Given the description of an element on the screen output the (x, y) to click on. 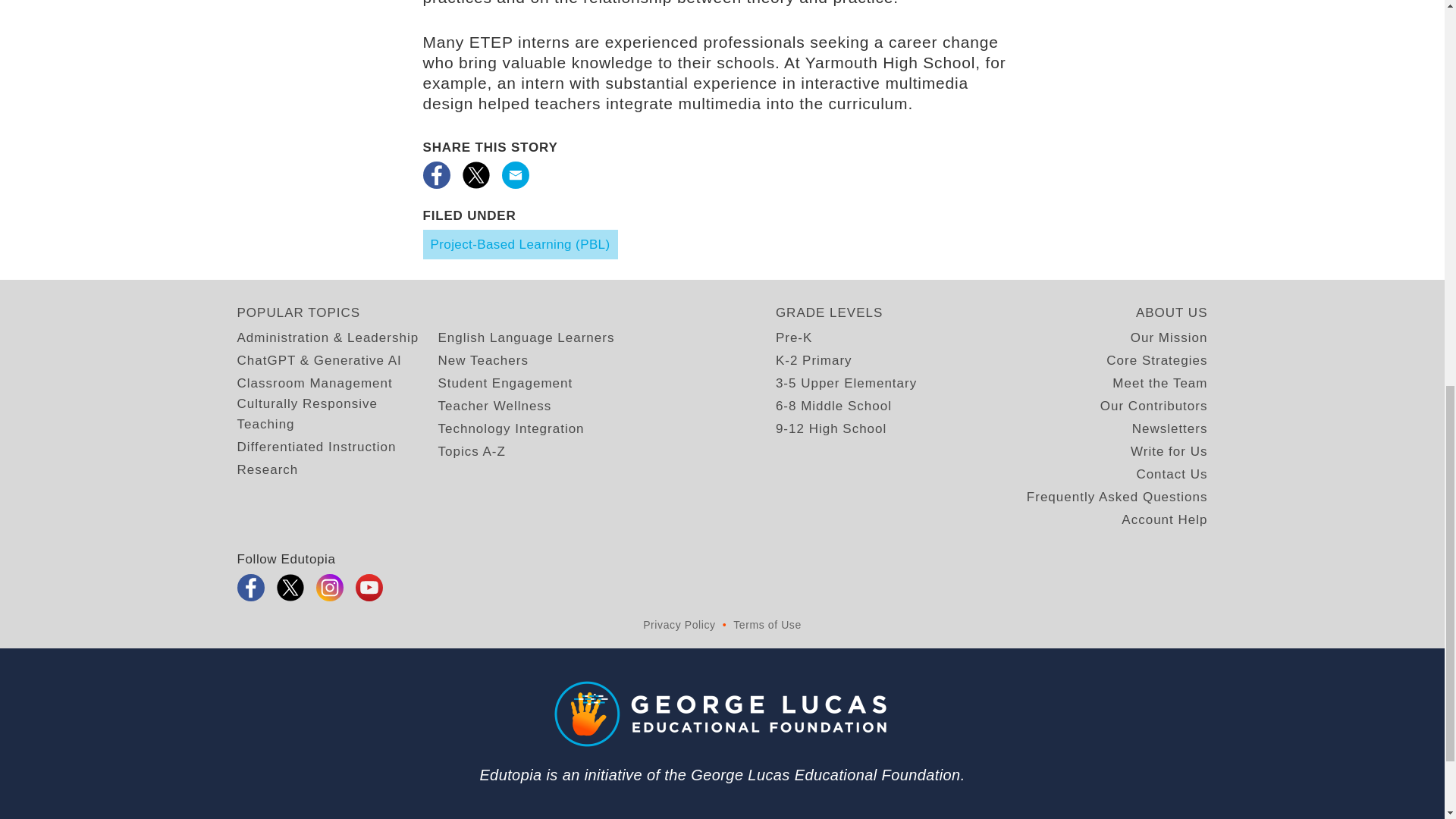
Topics A-Z (471, 451)
K-2 Primary (813, 360)
Pre-K (794, 337)
Research (266, 469)
English Language Learners (526, 337)
Classroom Management (313, 383)
Differentiated Instruction (315, 446)
3-5 Upper Elementary (846, 383)
Culturally Responsive Teaching (336, 413)
New Teachers (483, 360)
